Given the description of an element on the screen output the (x, y) to click on. 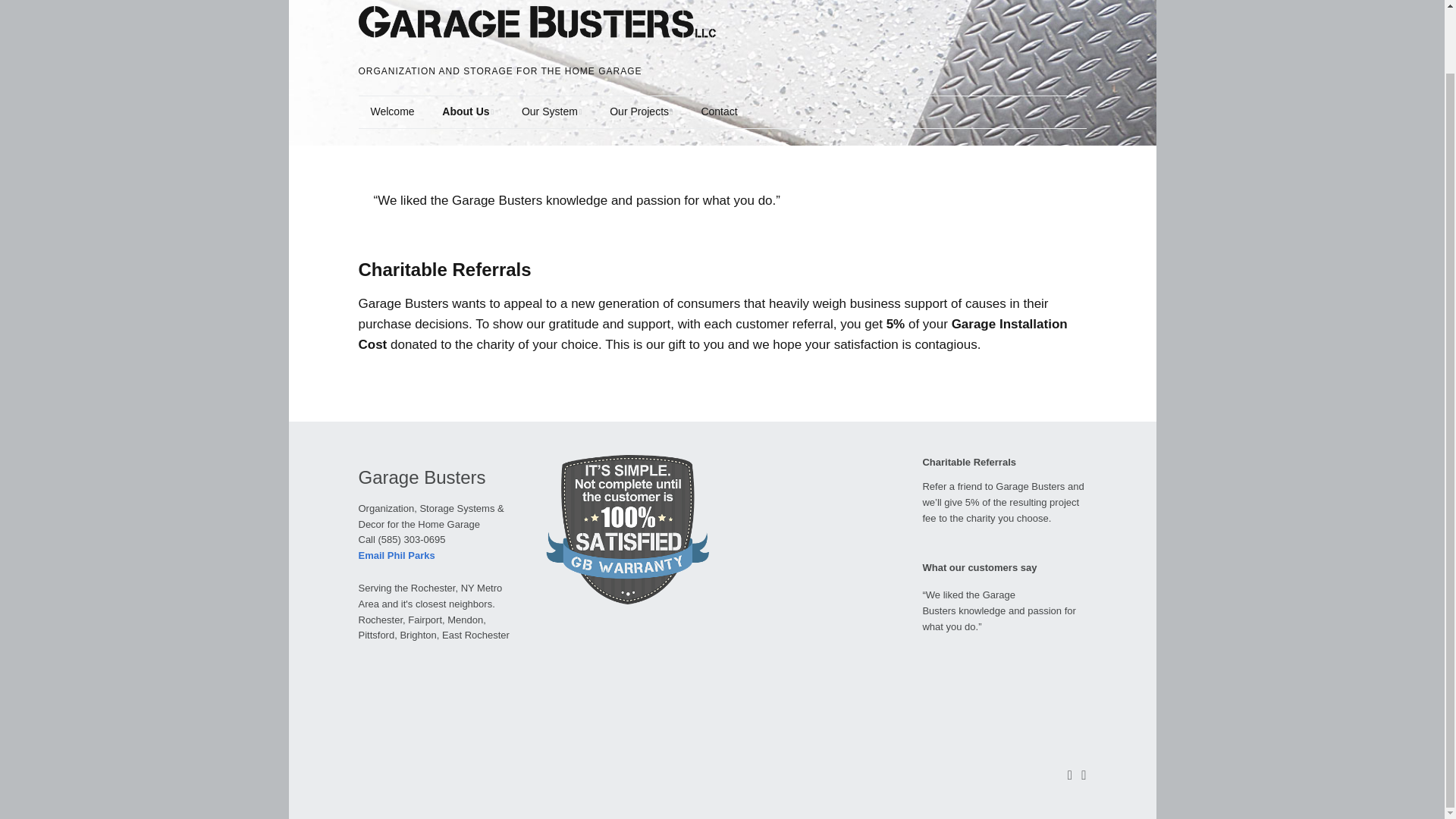
Email Phil Parks (395, 555)
Email Garage Busters LLC (395, 555)
About Us (467, 111)
Welcome (392, 111)
Our System (551, 111)
Contact (718, 111)
Our Projects (640, 111)
